Given the description of an element on the screen output the (x, y) to click on. 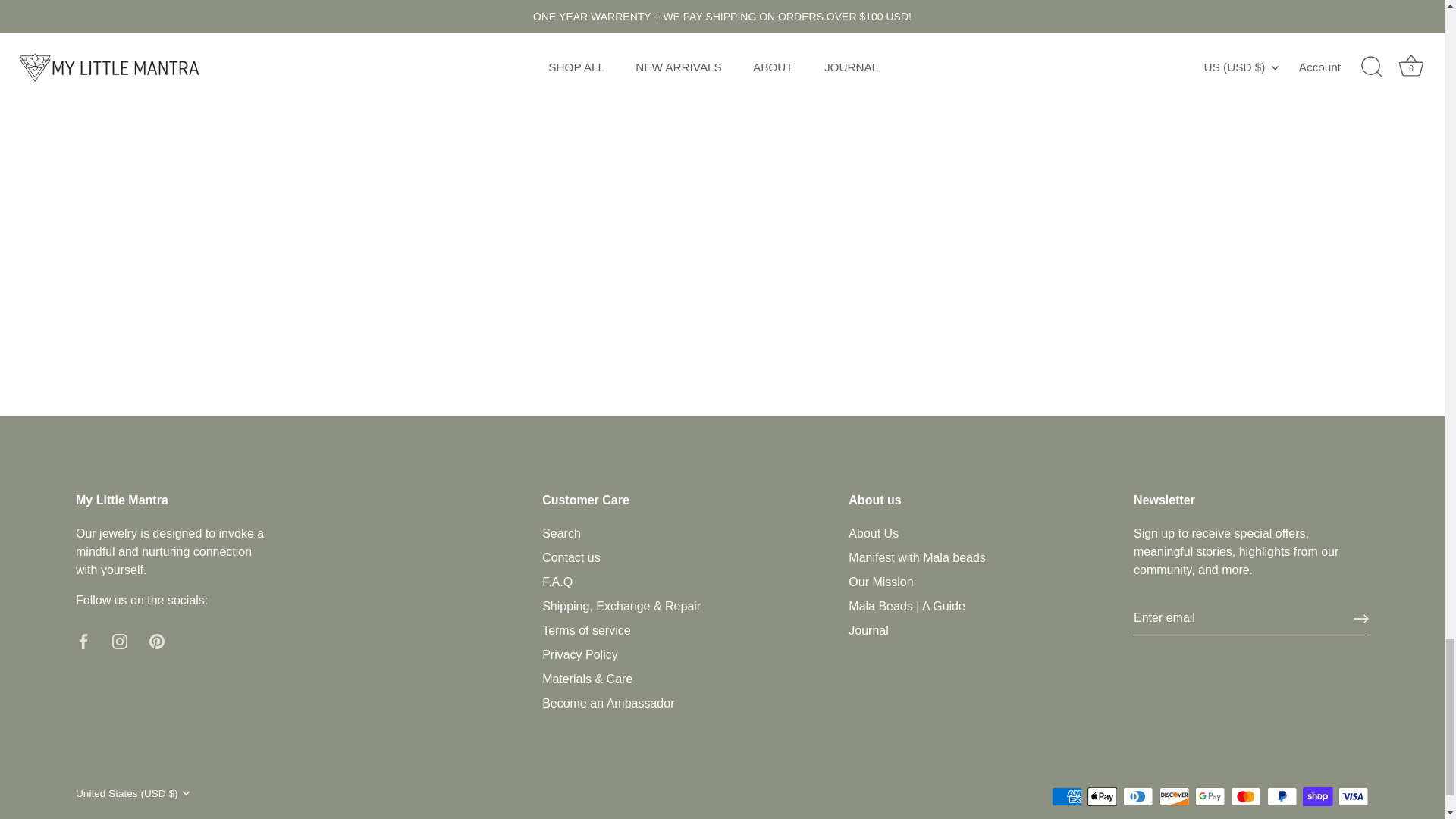
Shop Pay (1317, 796)
Google Pay (1209, 796)
Instagram (120, 641)
RIGHT ARROW LONG (1361, 618)
Apple Pay (1101, 796)
PayPal (1281, 796)
Discover (1173, 796)
American Express (1066, 796)
Pinterest (156, 641)
Diners Club (1137, 796)
